Given the description of an element on the screen output the (x, y) to click on. 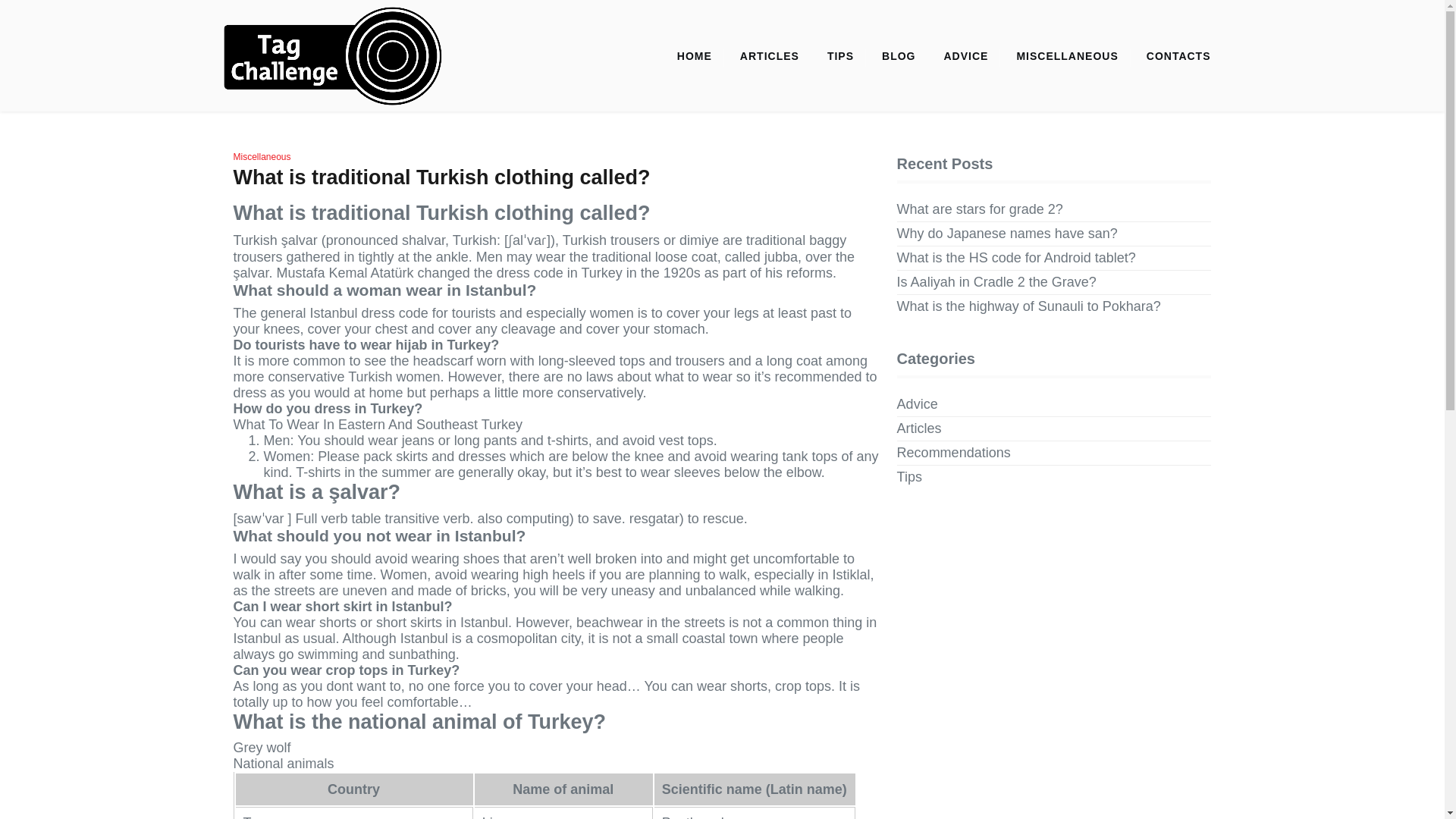
BLOG (898, 55)
ARTICLES (769, 55)
Recommendations (953, 453)
What is the highway of Sunauli to Pokhara? (1028, 306)
CONTACTS (1178, 55)
TIPS (840, 55)
HOME (694, 55)
MISCELLANEOUS (1066, 55)
Is Aaliyah in Cradle 2 the Grave? (996, 282)
Miscellaneous (261, 156)
